Given the description of an element on the screen output the (x, y) to click on. 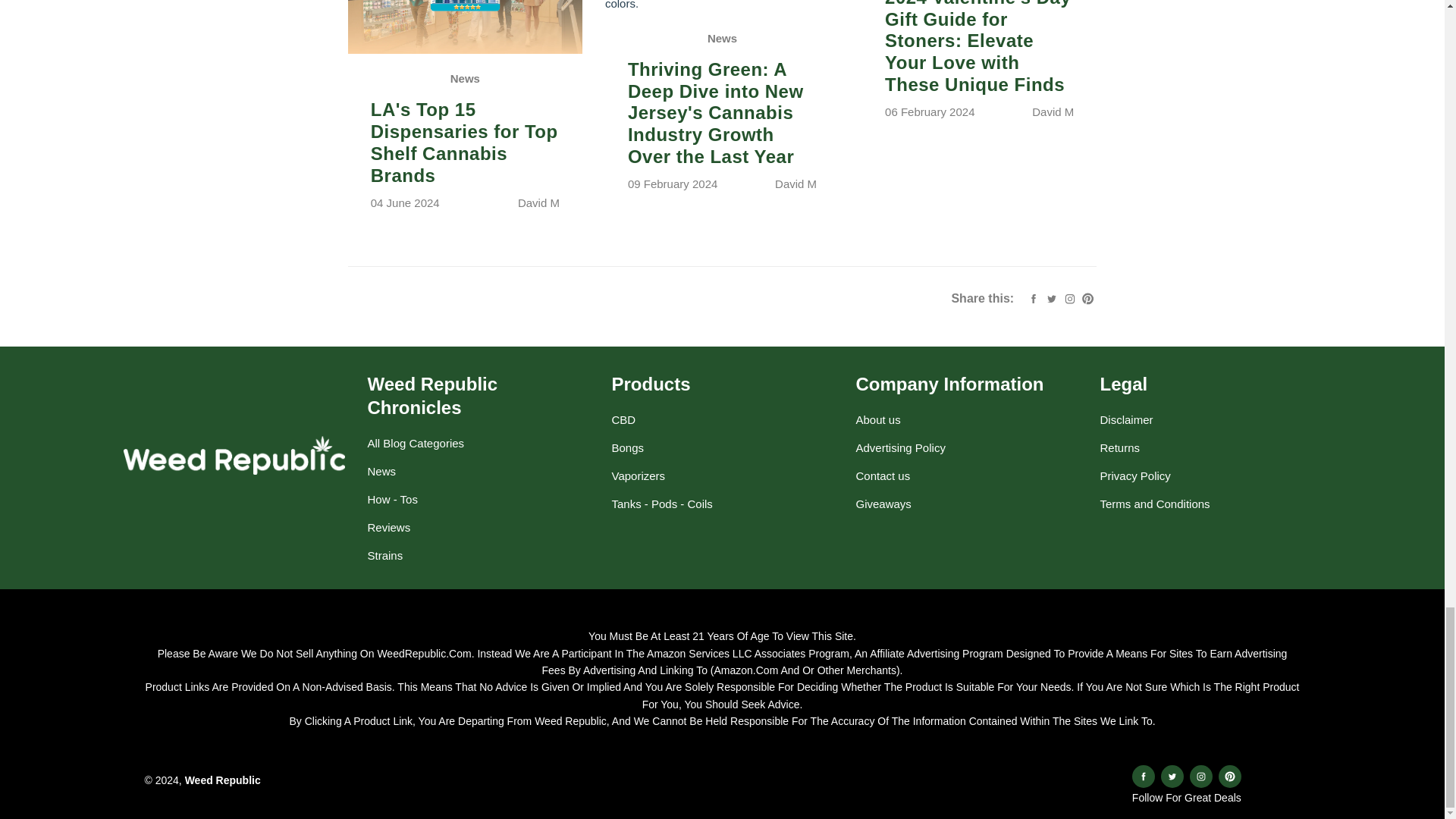
Home page (222, 779)
